Given the description of an element on the screen output the (x, y) to click on. 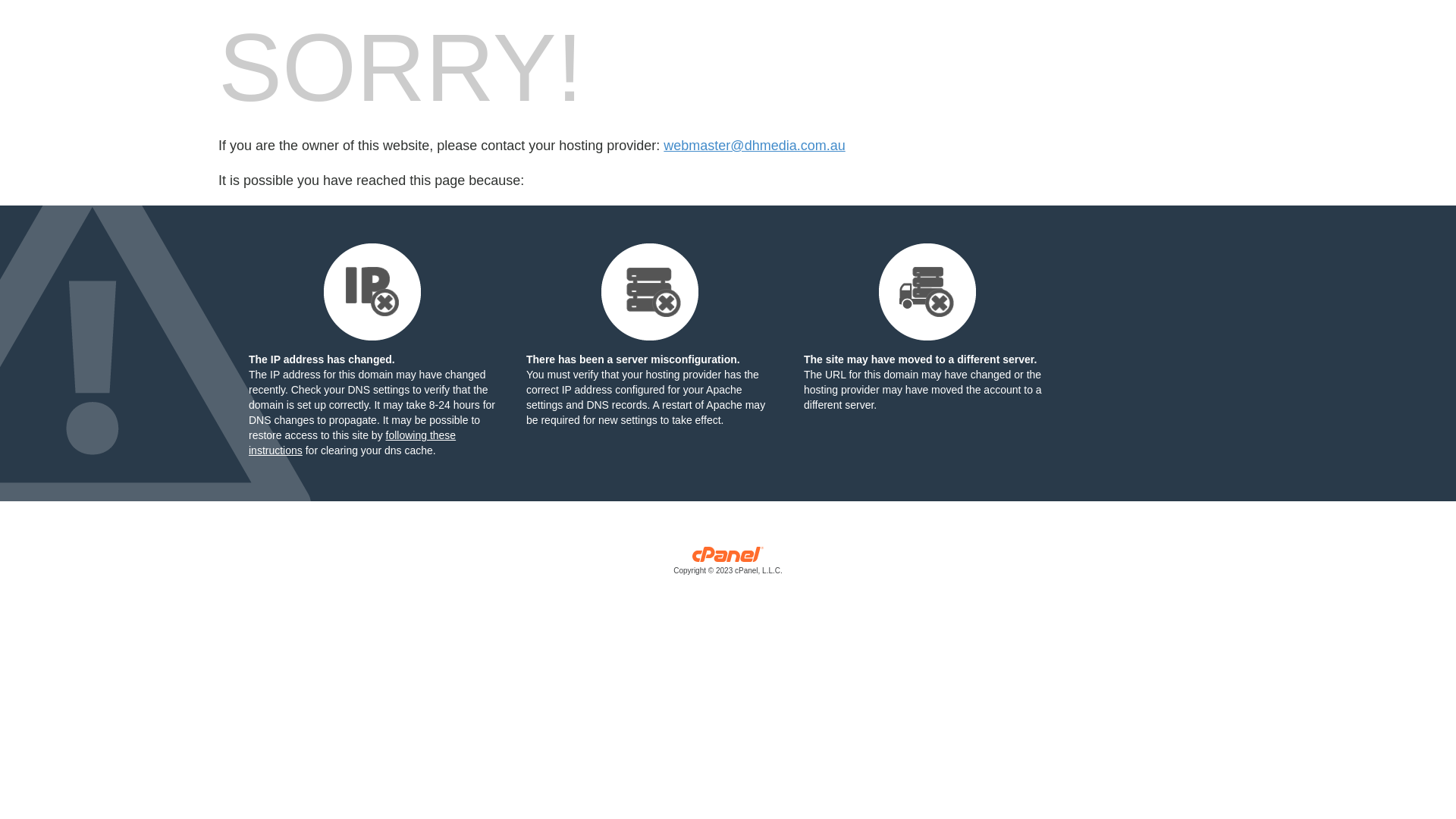
following these instructions Element type: text (351, 442)
webmaster@dhmedia.com.au Element type: text (753, 145)
